Given the description of an element on the screen output the (x, y) to click on. 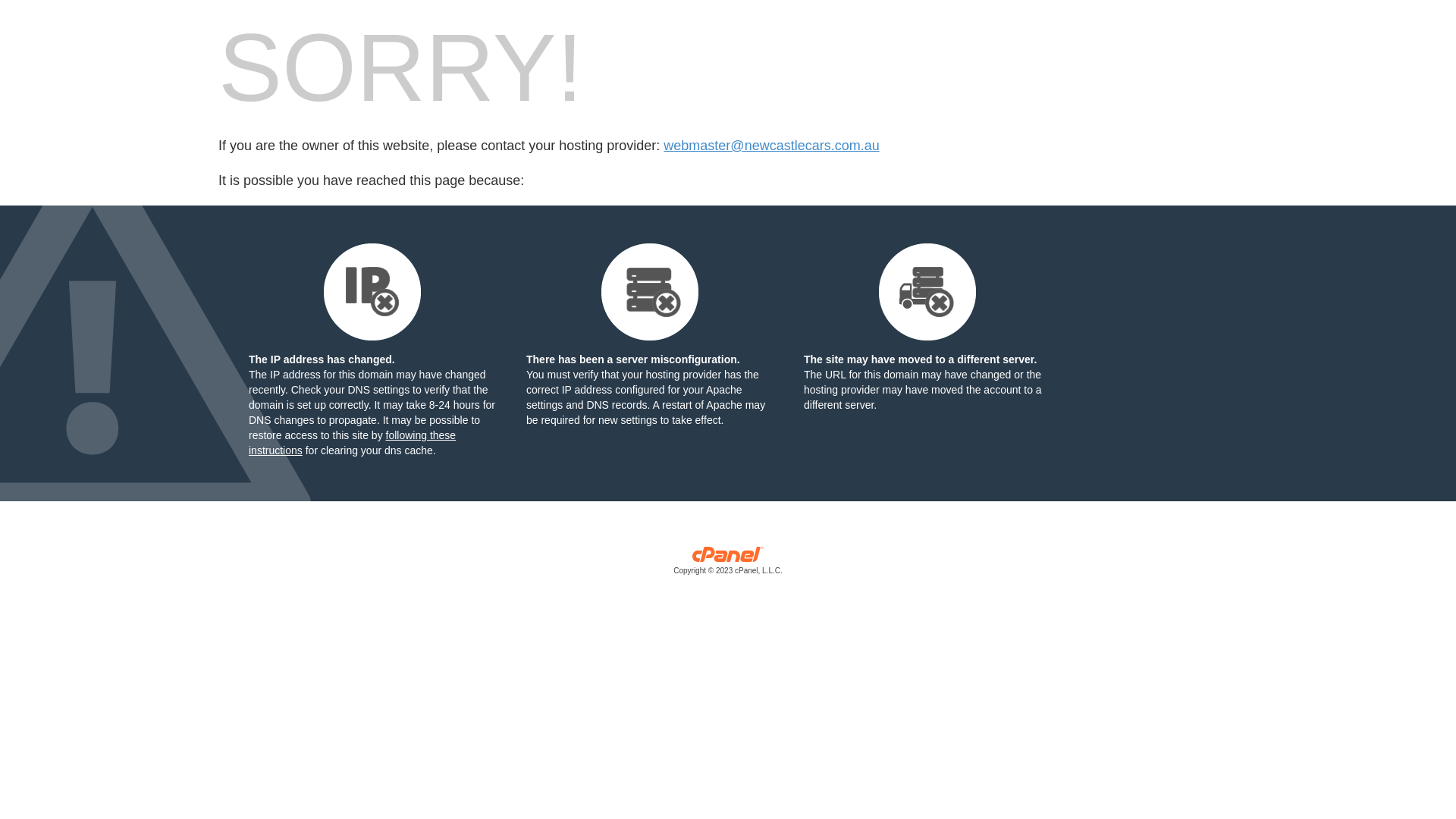
webmaster@newcastlecars.com.au Element type: text (770, 145)
following these instructions Element type: text (351, 442)
